Given the description of an element on the screen output the (x, y) to click on. 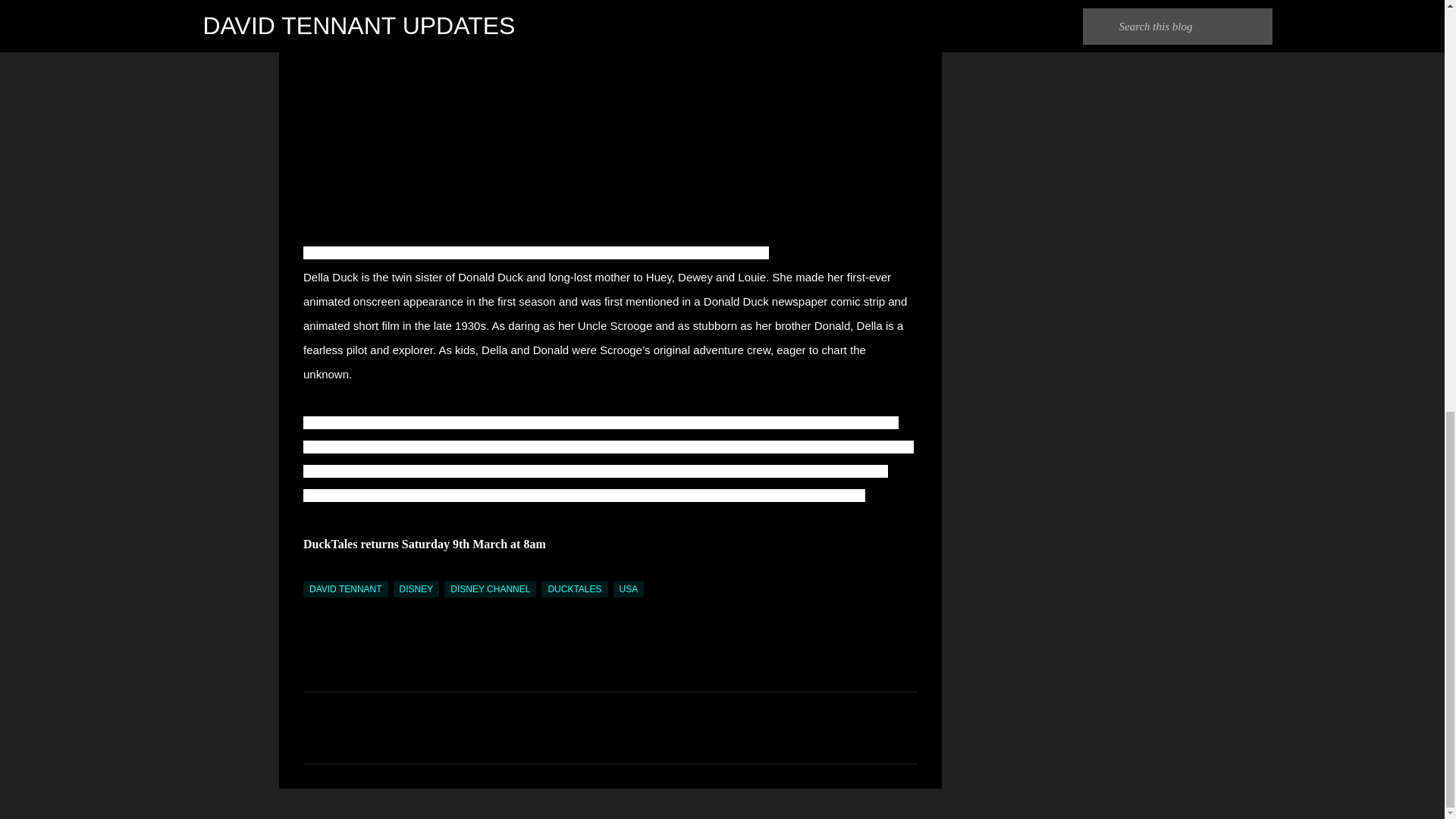
DAVID TENNANT (345, 588)
DISNEY CHANNEL (489, 588)
DUCKTALES (574, 588)
USA (628, 588)
Email Post (311, 571)
DISNEY (416, 588)
